Given the description of an element on the screen output the (x, y) to click on. 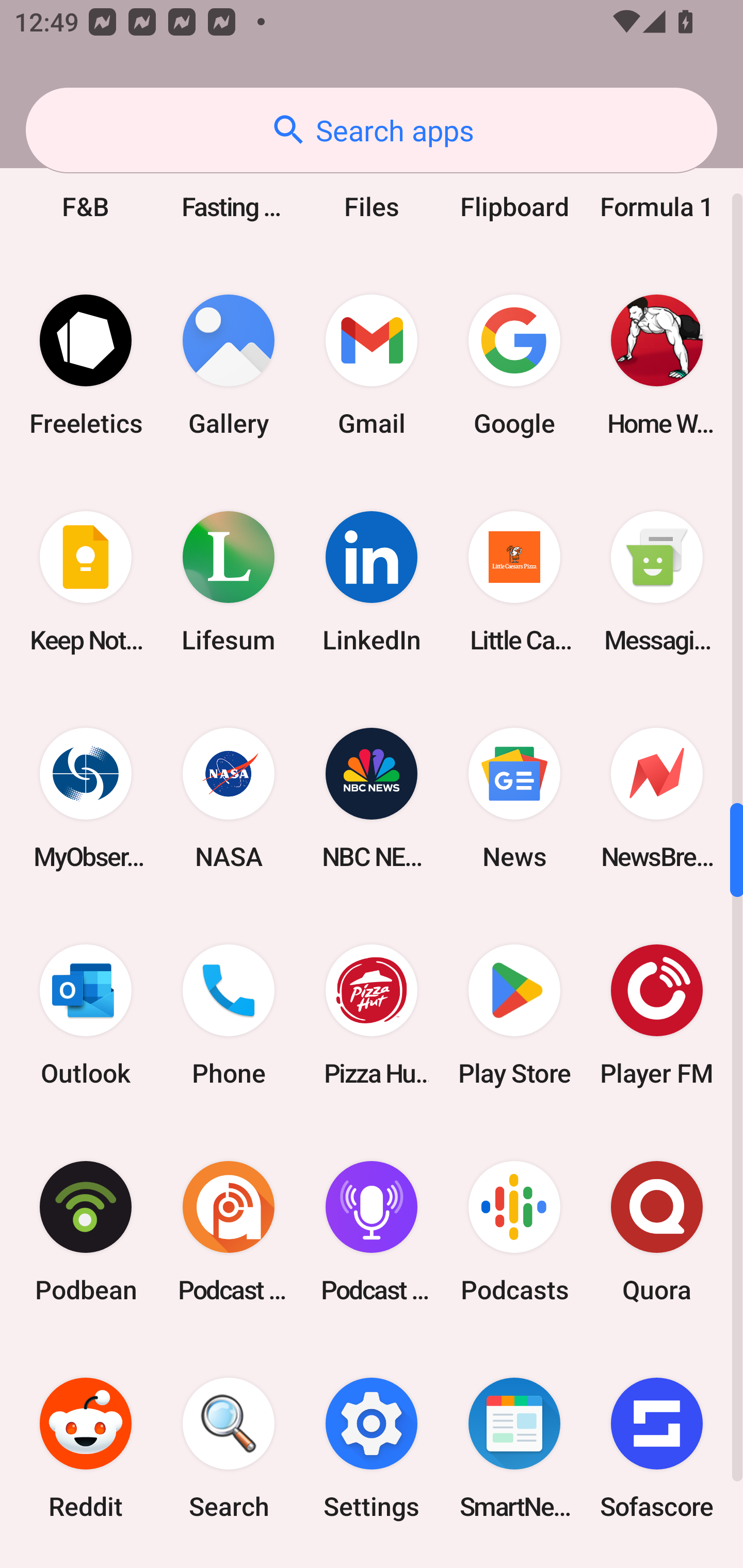
  Search apps (371, 130)
F&B (85, 180)
Fasting Coach (228, 180)
Files (371, 180)
Flipboard (514, 180)
Formula 1 (656, 180)
Freeletics (85, 365)
Gallery (228, 365)
Gmail (371, 365)
Google (514, 365)
Home Workout (656, 365)
Keep Notes (85, 581)
Lifesum (228, 581)
LinkedIn (371, 581)
Little Caesars Pizza (514, 581)
Messaging (656, 581)
MyObservatory (85, 797)
NASA (228, 797)
NBC NEWS (371, 797)
News (514, 797)
NewsBreak (656, 797)
Outlook (85, 1014)
Phone (228, 1014)
Pizza Hut HK & Macau (371, 1014)
Play Store (514, 1014)
Player FM (656, 1014)
Podbean (85, 1231)
Podcast Addict (228, 1231)
Podcast Player (371, 1231)
Podcasts (514, 1231)
Quora (656, 1231)
Reddit (85, 1448)
Search (228, 1448)
Settings (371, 1448)
SmartNews (514, 1448)
Sofascore (656, 1448)
